Given the description of an element on the screen output the (x, y) to click on. 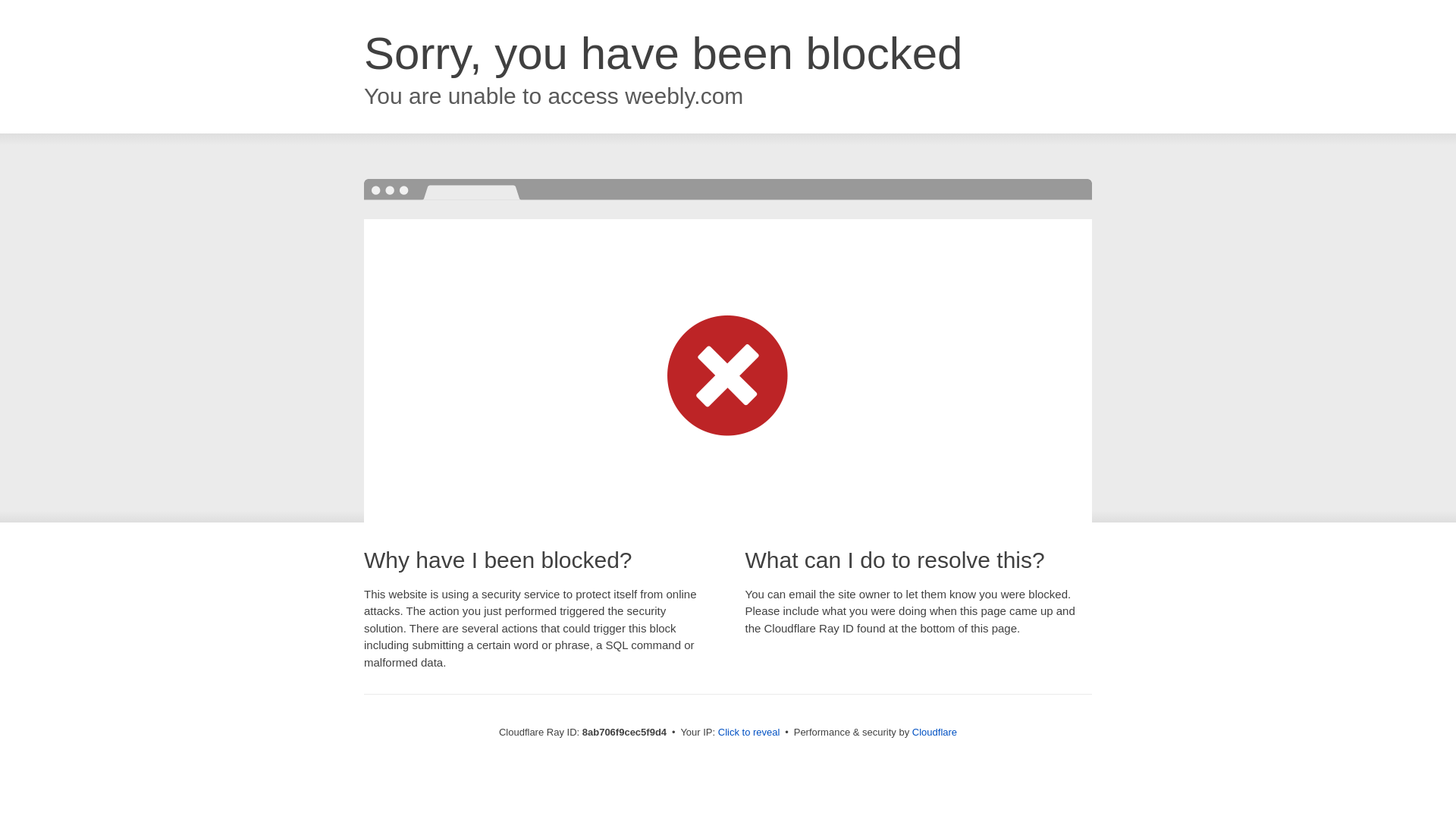
Click to reveal (748, 732)
Cloudflare (934, 731)
